Given the description of an element on the screen output the (x, y) to click on. 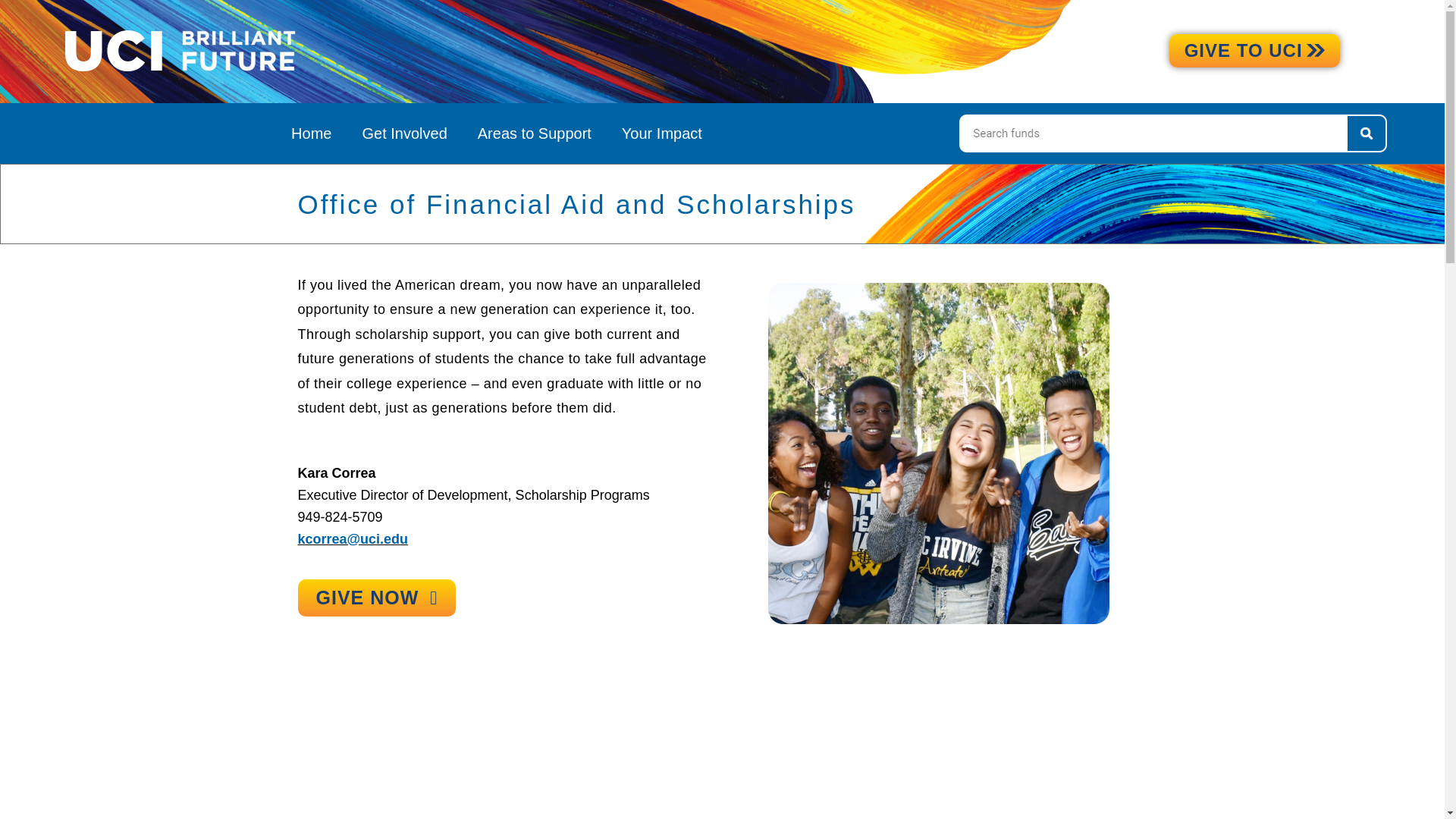
GIVE NOW (376, 597)
Get Involved (403, 133)
Areas to Support (535, 133)
Home (311, 133)
Your Impact (662, 133)
GIVE TO UCI (1254, 50)
